Given the description of an element on the screen output the (x, y) to click on. 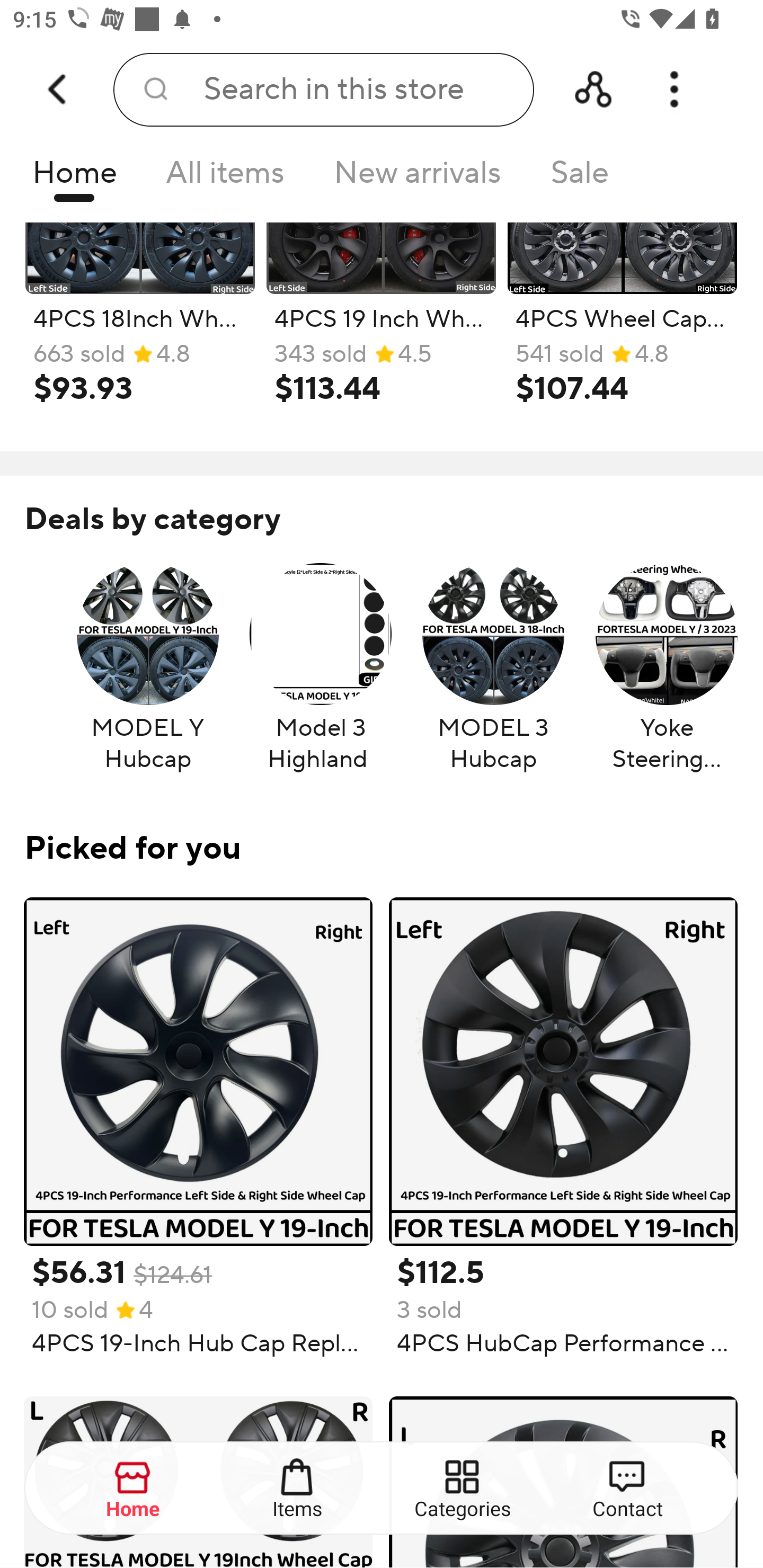
Search in this store (323, 90)
Home (74, 177)
All items (225, 177)
New arrivals
 (418, 177)
Sale (579, 177)
MODEL Y Hubcap (147, 668)
Model 3 Highland  (320, 668)
MODEL 3 Hubcap (492, 668)
Yoke Steering… (666, 668)
Home (133, 1488)
Items (297, 1488)
Categories (462, 1488)
Contact (627, 1488)
